Given the description of an element on the screen output the (x, y) to click on. 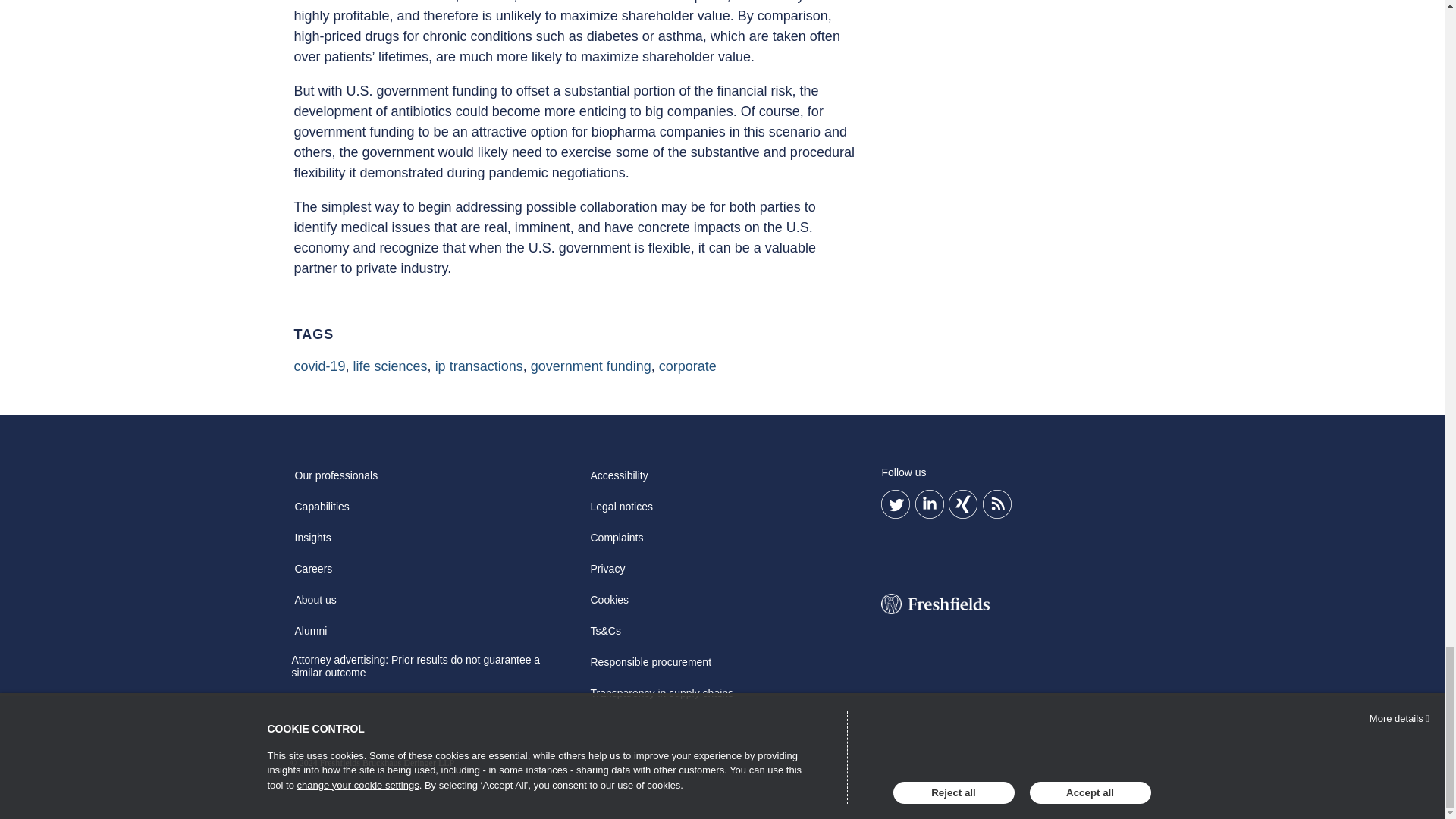
About us (315, 604)
Legal notices (621, 511)
Accessibility (618, 480)
Alumni (310, 635)
Capabilities (321, 511)
Insights (312, 542)
Cookies (608, 604)
Our professionals (335, 480)
Careers (312, 573)
Privacy (606, 573)
